Given the description of an element on the screen output the (x, y) to click on. 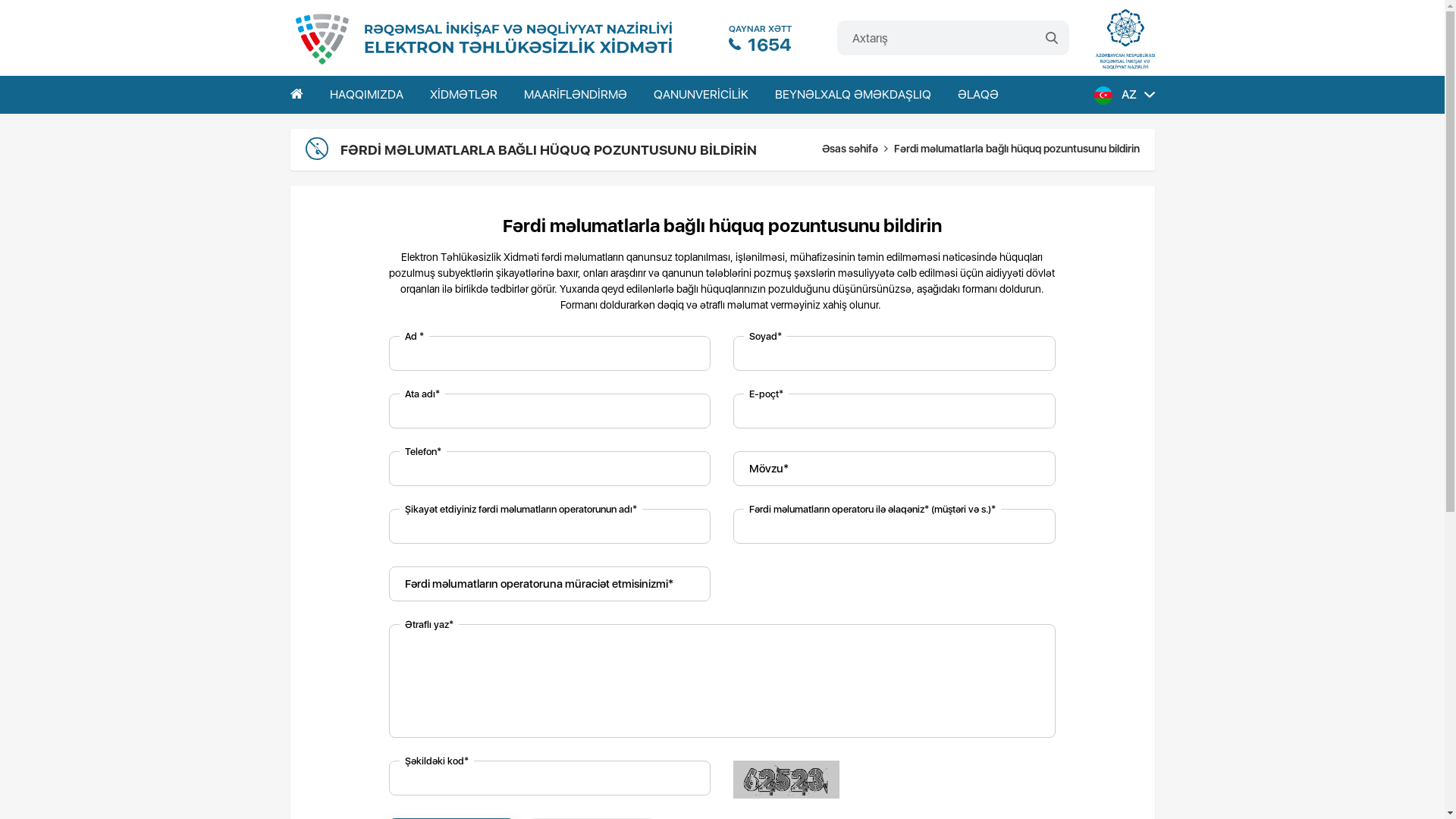
HAQQIMIZDA Element type: text (365, 94)
